Given the description of an element on the screen output the (x, y) to click on. 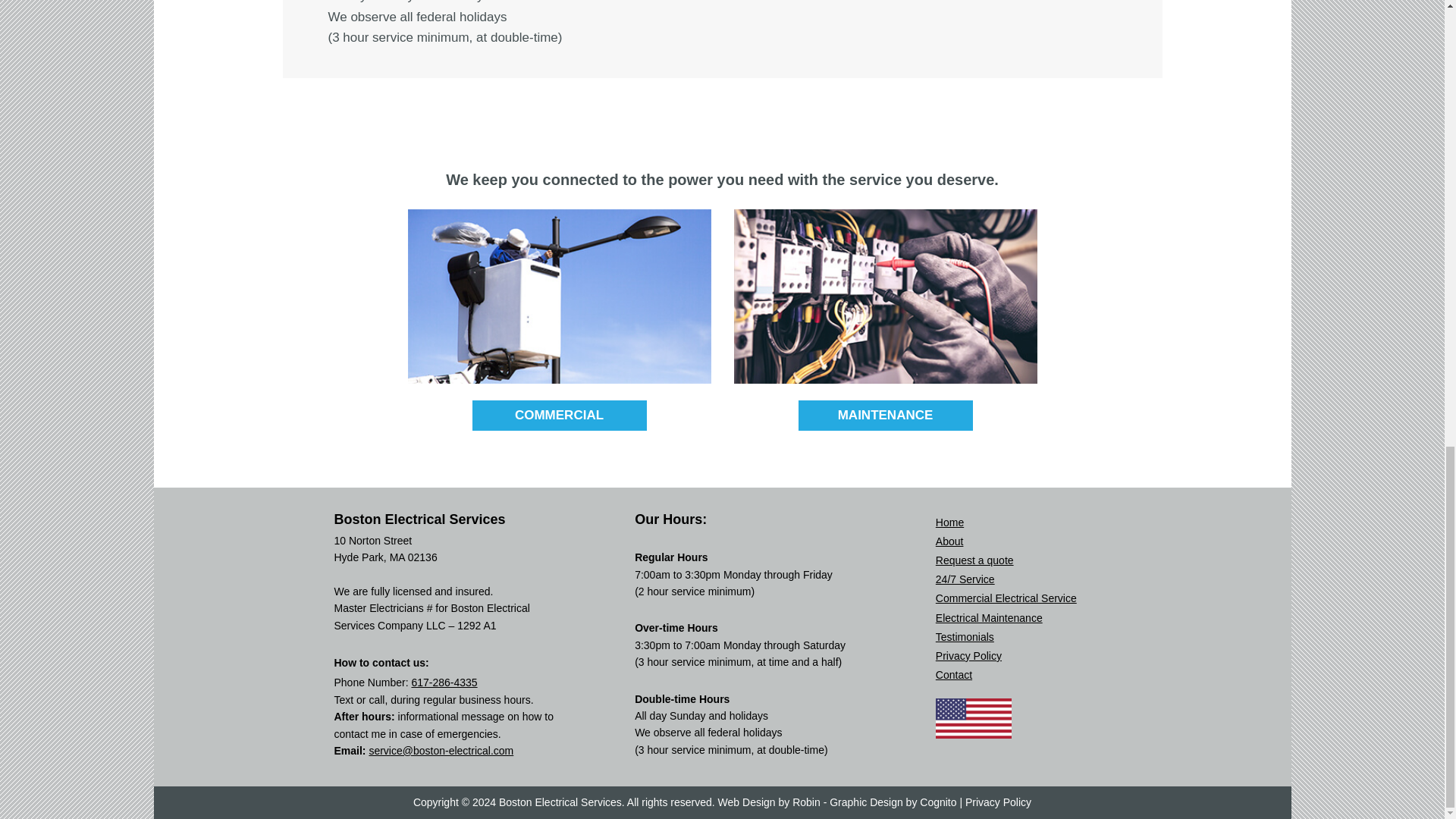
MAINTENANCE (884, 415)
617-286-4335 (443, 682)
About (949, 541)
Web Design by Robin (769, 802)
Contact (954, 674)
Privacy Policy (997, 802)
Commercial Electrical Service (1006, 598)
Request a quote (974, 560)
Electrical Maintenance (989, 617)
Boston Electrical Services (560, 802)
COMMERCIAL (558, 415)
Testimonials (965, 636)
Privacy Policy (968, 655)
Home (949, 522)
Graphic Design by Cognito (892, 802)
